Given the description of an element on the screen output the (x, y) to click on. 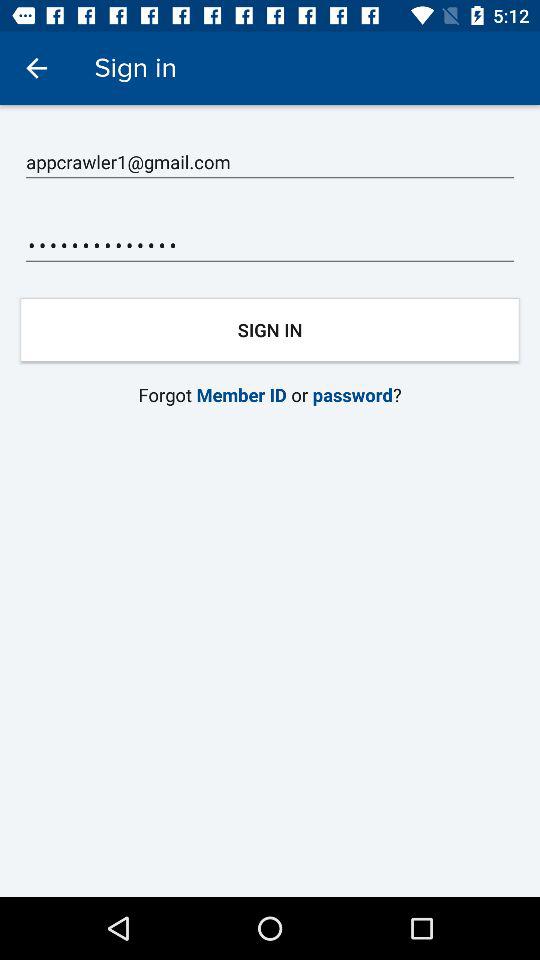
launch item below the sign in item (270, 394)
